Given the description of an element on the screen output the (x, y) to click on. 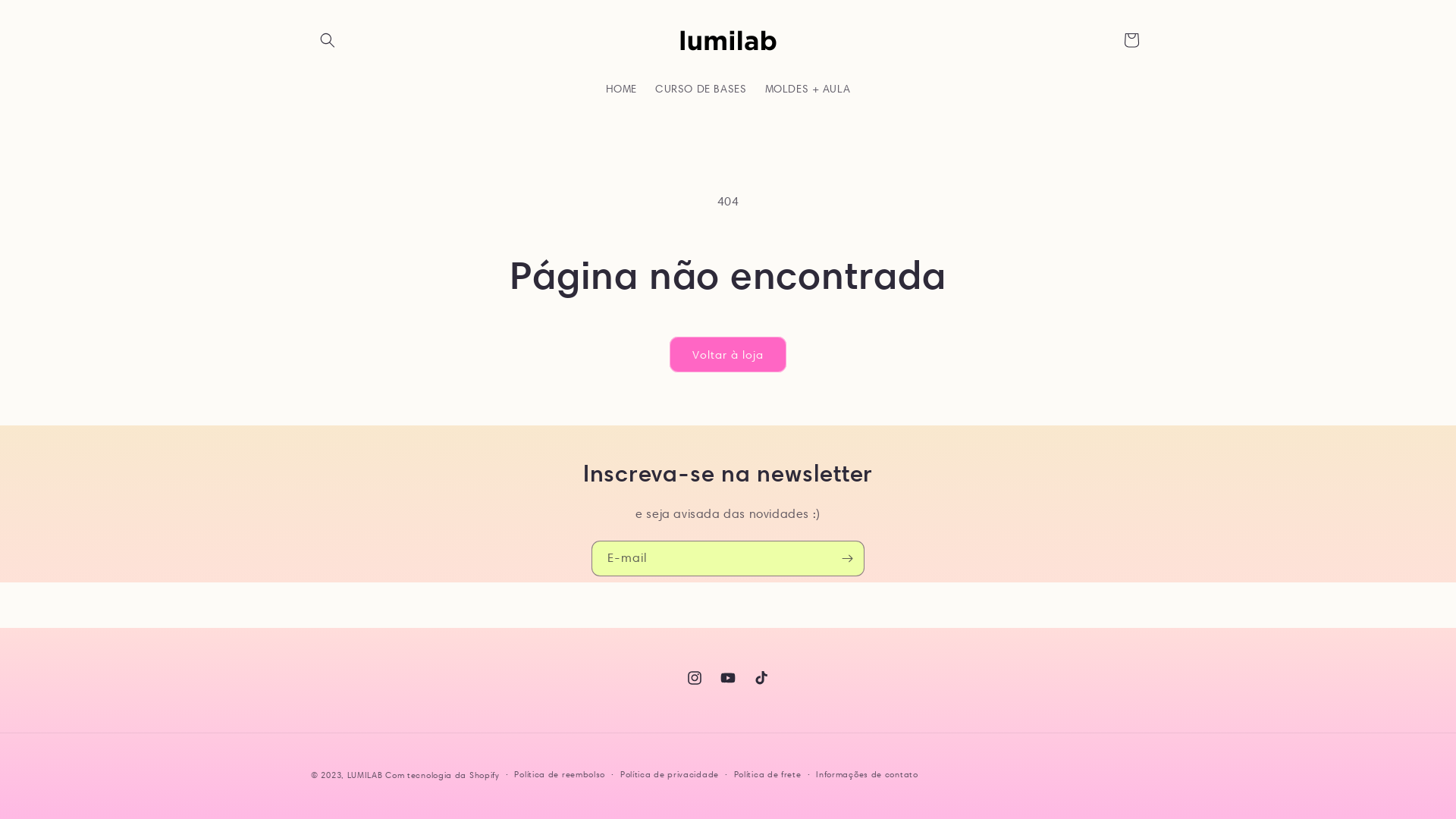
Instagram Element type: text (694, 677)
YouTube Element type: text (727, 677)
HOME Element type: text (621, 88)
CURSO DE BASES Element type: text (700, 88)
LUMILAB Element type: text (364, 774)
Carrinho Element type: text (1131, 39)
TikTok Element type: text (761, 677)
MOLDES + AULA Element type: text (807, 88)
Com tecnologia da Shopify Element type: text (442, 774)
